Given the description of an element on the screen output the (x, y) to click on. 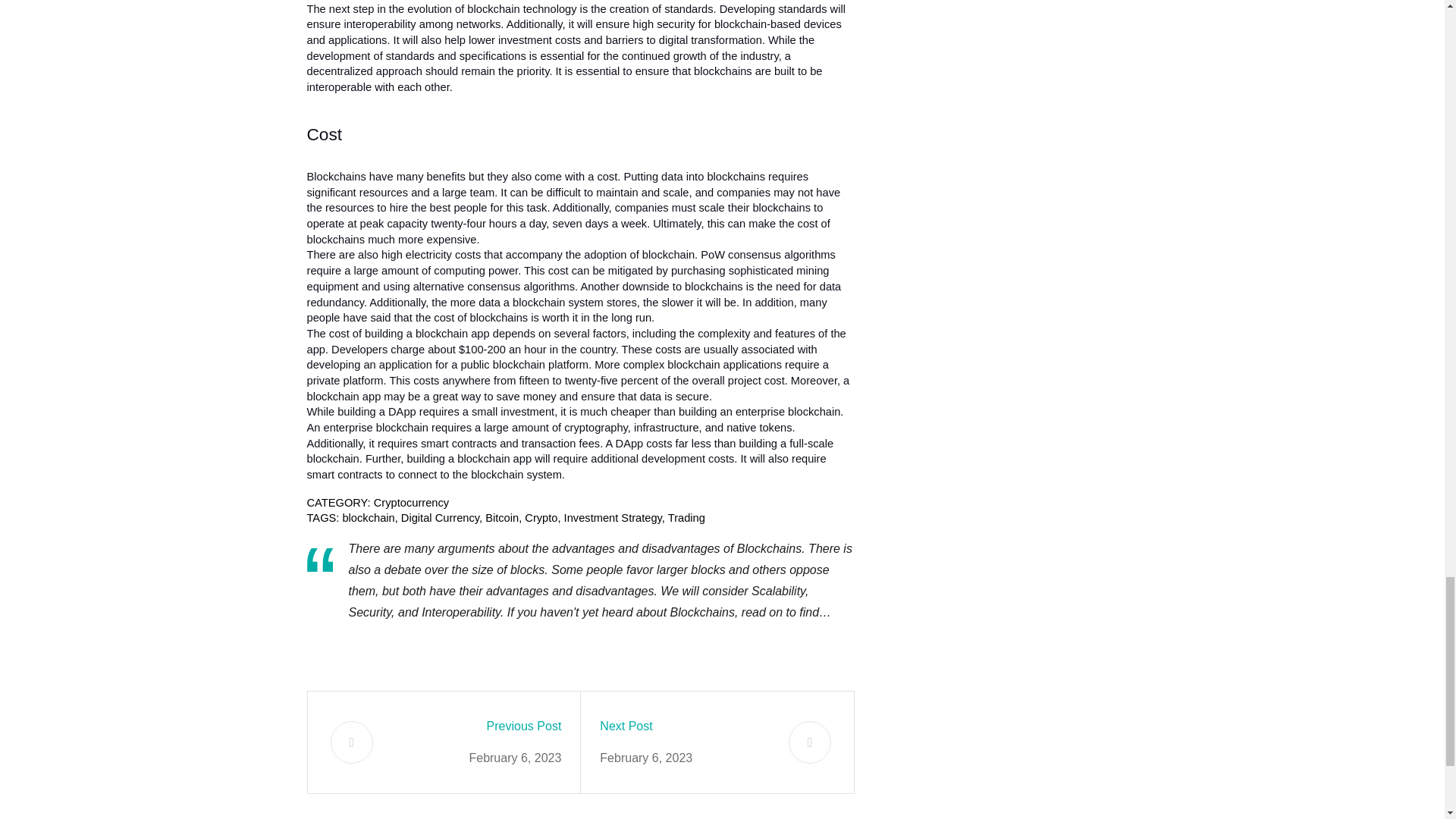
February 6, 2023 (514, 757)
February 6, 2023 (646, 757)
